Given the description of an element on the screen output the (x, y) to click on. 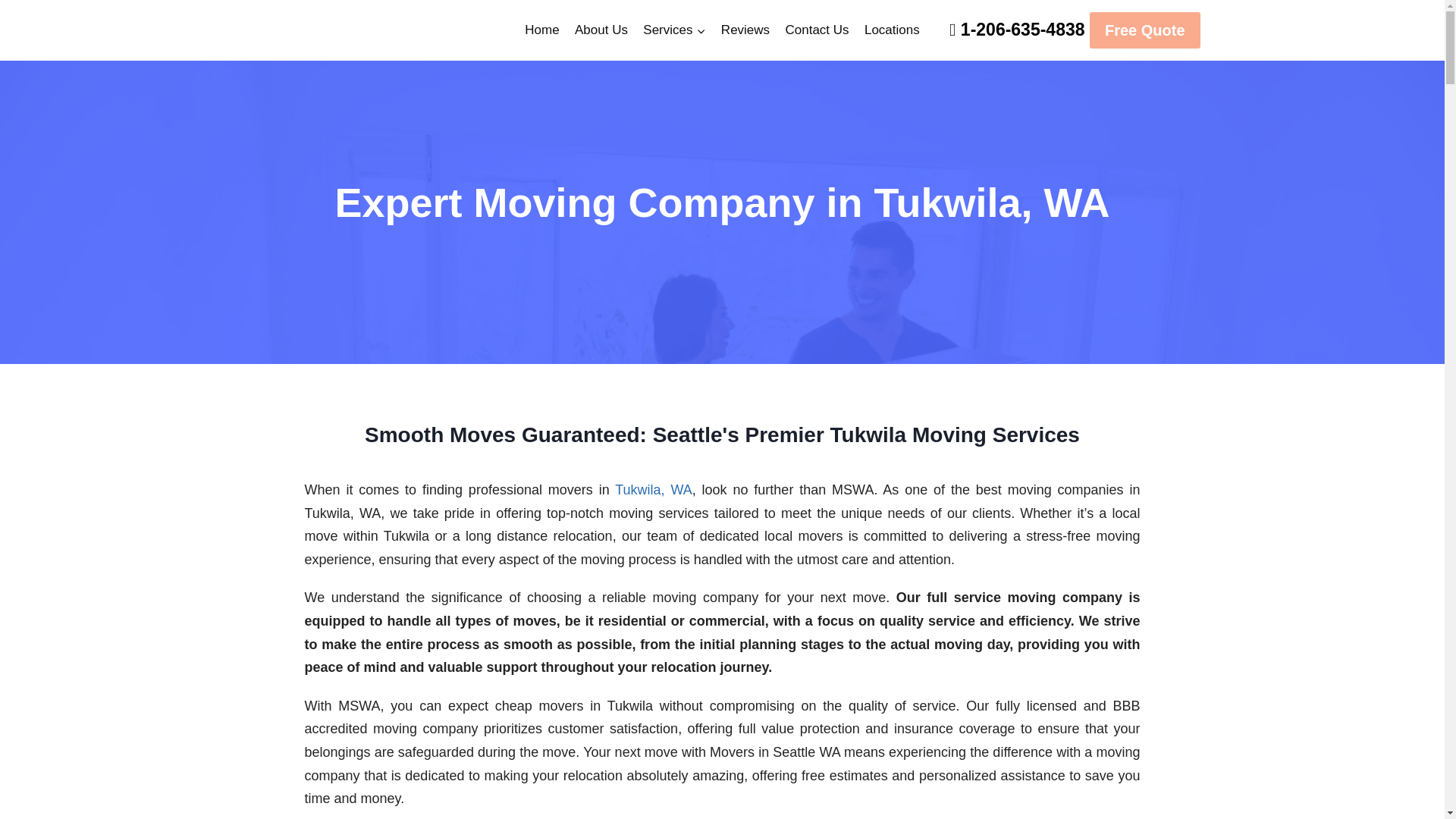
About Us (600, 30)
Free Quote (1144, 30)
Reviews (745, 30)
Services (673, 30)
Locations (892, 30)
1-206-635-4838 (1022, 29)
Tukwila, WA (653, 489)
Contact Us (816, 30)
